Given the description of an element on the screen output the (x, y) to click on. 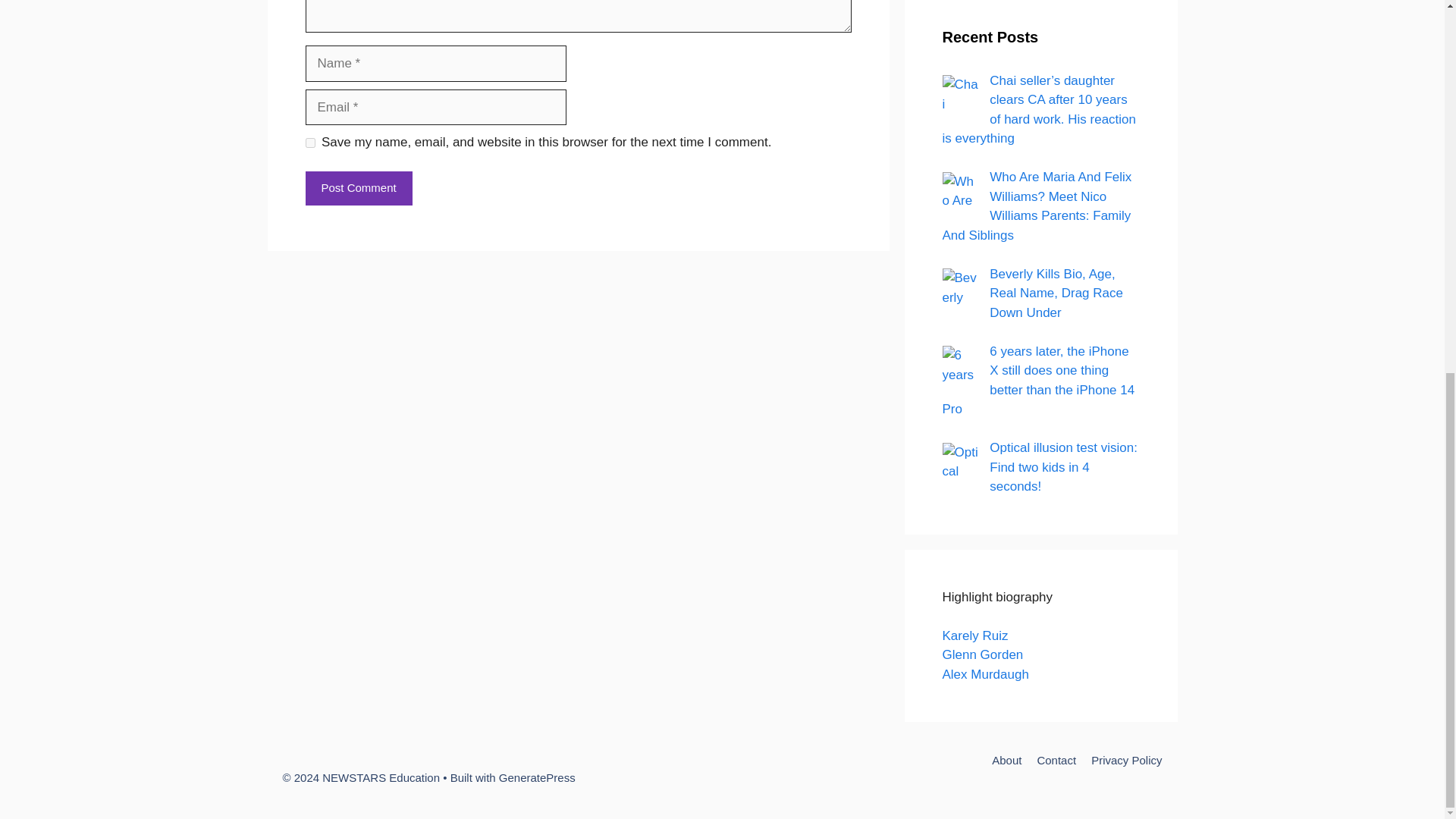
Optical illusion test vision: Find two kids in 4 seconds! (960, 460)
Contact (1055, 759)
GeneratePress (537, 777)
Alex Murdaugh (984, 674)
Karely Ruiz (974, 635)
Privacy Policy (1125, 759)
Beverly Kills Bio, Age, Real Name, Drag Race Down Under (1056, 293)
About (1006, 759)
Post Comment (358, 188)
Post Comment (358, 188)
Beverly Kills Bio, Age, Real Name, Drag Race Down Under (960, 287)
Optical illusion test vision: Find two kids in 4 seconds! (1063, 466)
